Given the description of an element on the screen output the (x, y) to click on. 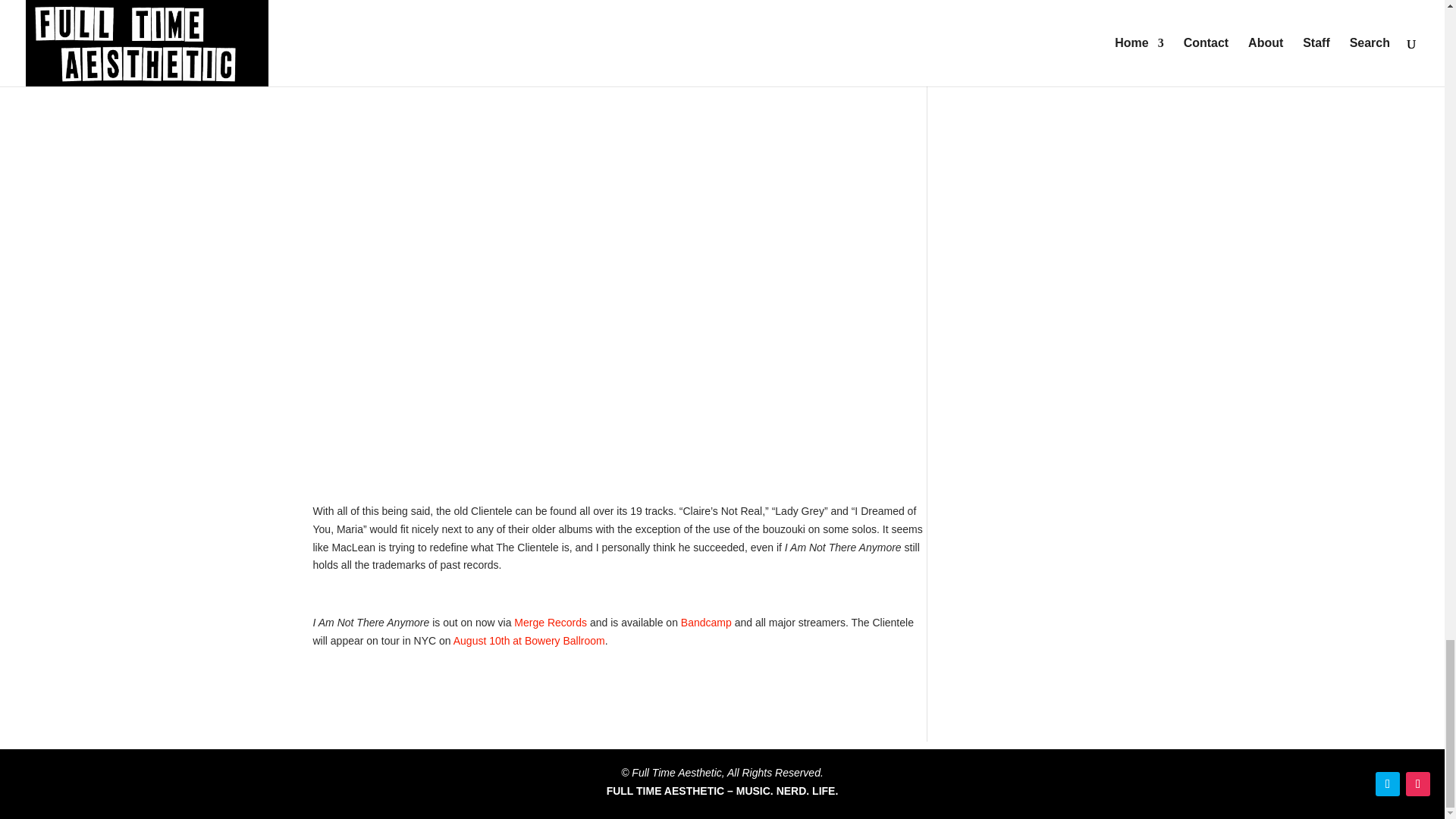
Merge Records (549, 622)
Follow on Twitter (1387, 784)
Follow on Instagram (1417, 784)
August 10th at Bowery Ballroom (528, 640)
Bandcamp (706, 622)
